Given the description of an element on the screen output the (x, y) to click on. 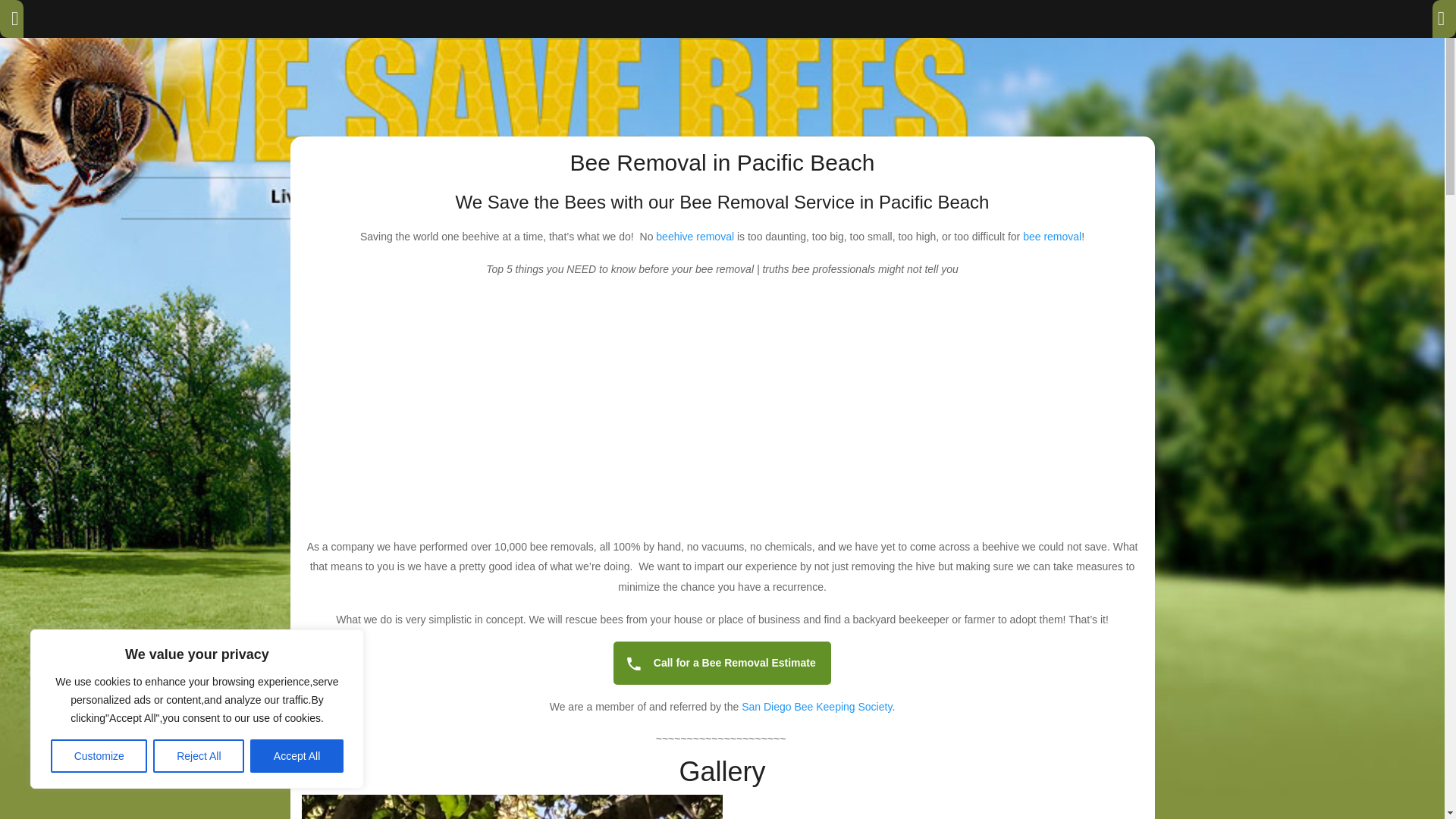
Accept All (296, 756)
Reject All (198, 756)
YouTube video player (721, 410)
Customize (98, 756)
